Given the description of an element on the screen output the (x, y) to click on. 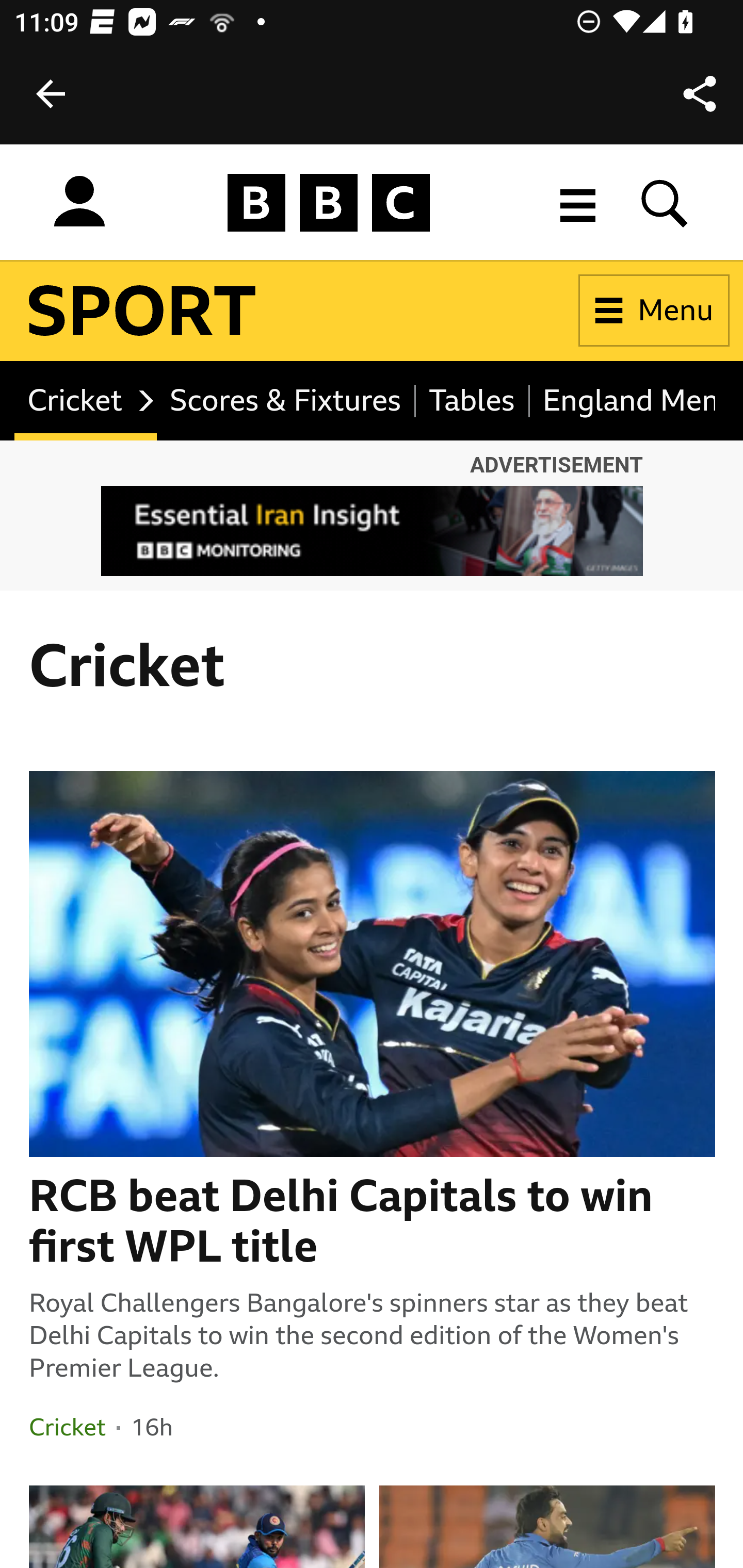
Back (50, 93)
Share (699, 93)
Sign in (79, 202)
BBC Homepage (329, 202)
More menu (578, 202)
Search BBC (665, 202)
BBC Sport (142, 311)
Menu (654, 311)
Cricket (86, 400)
Scores & Fixtures (285, 400)
Tables (473, 400)
England Men (622, 400)
RCB beat Delhi Capitals to win first WPL title (372, 1221)
Cricket (67, 1426)
